Given the description of an element on the screen output the (x, y) to click on. 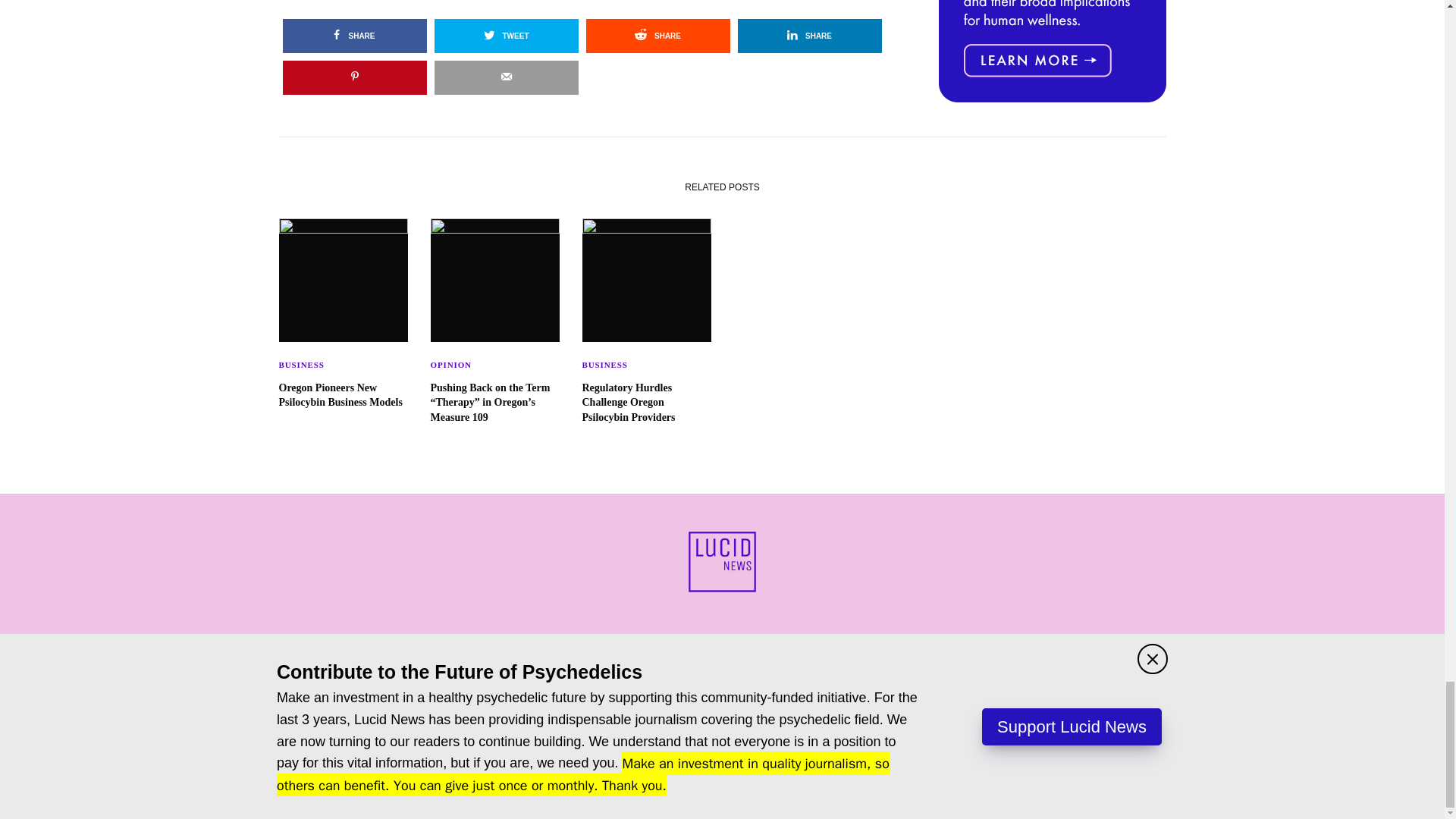
Lucid News (721, 561)
Regulatory Hurdles Challenge Oregon Psilocybin Providers (646, 402)
